Given the description of an element on the screen output the (x, y) to click on. 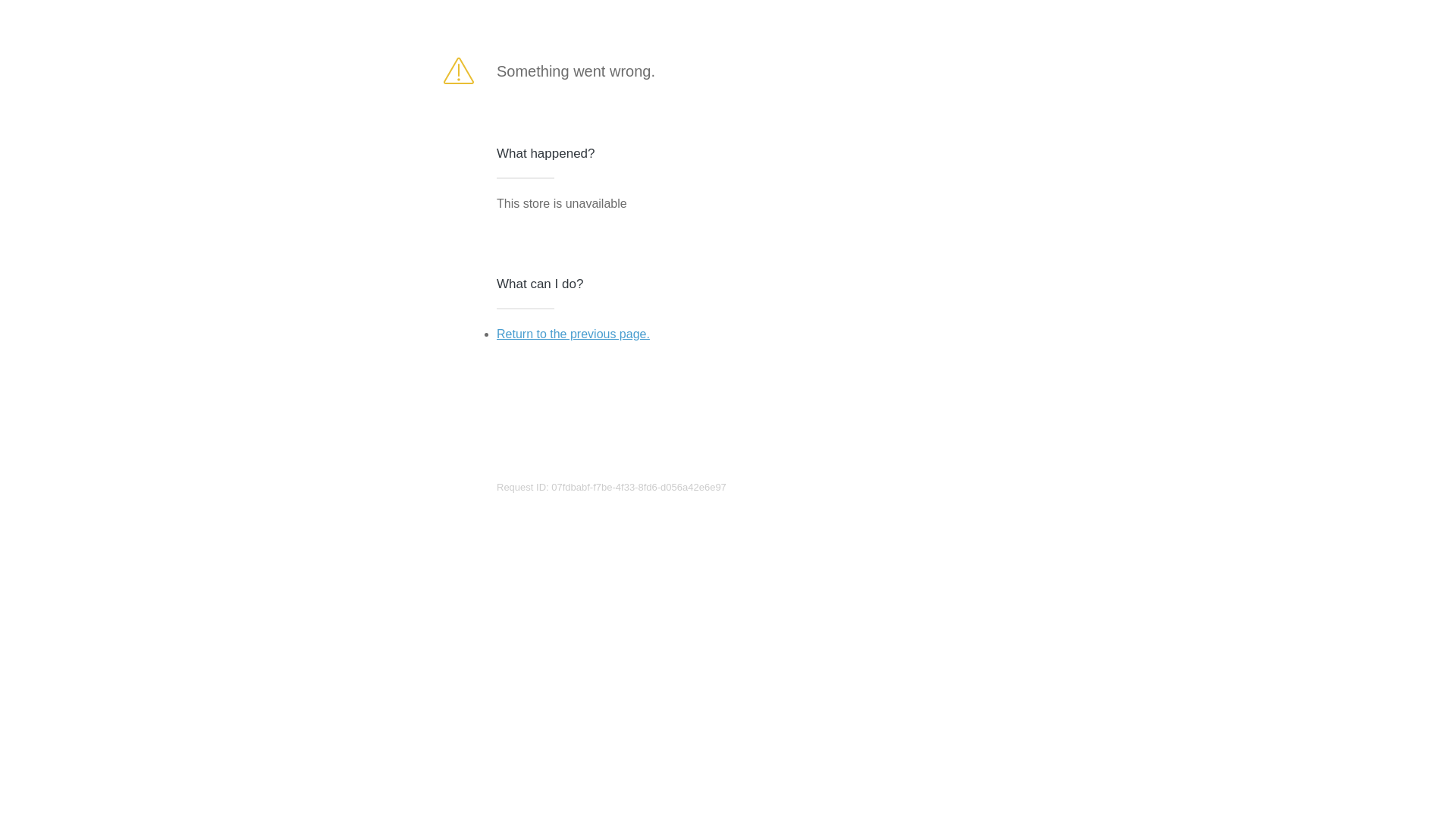
Return to the previous page. Element type: text (572, 333)
